Given the description of an element on the screen output the (x, y) to click on. 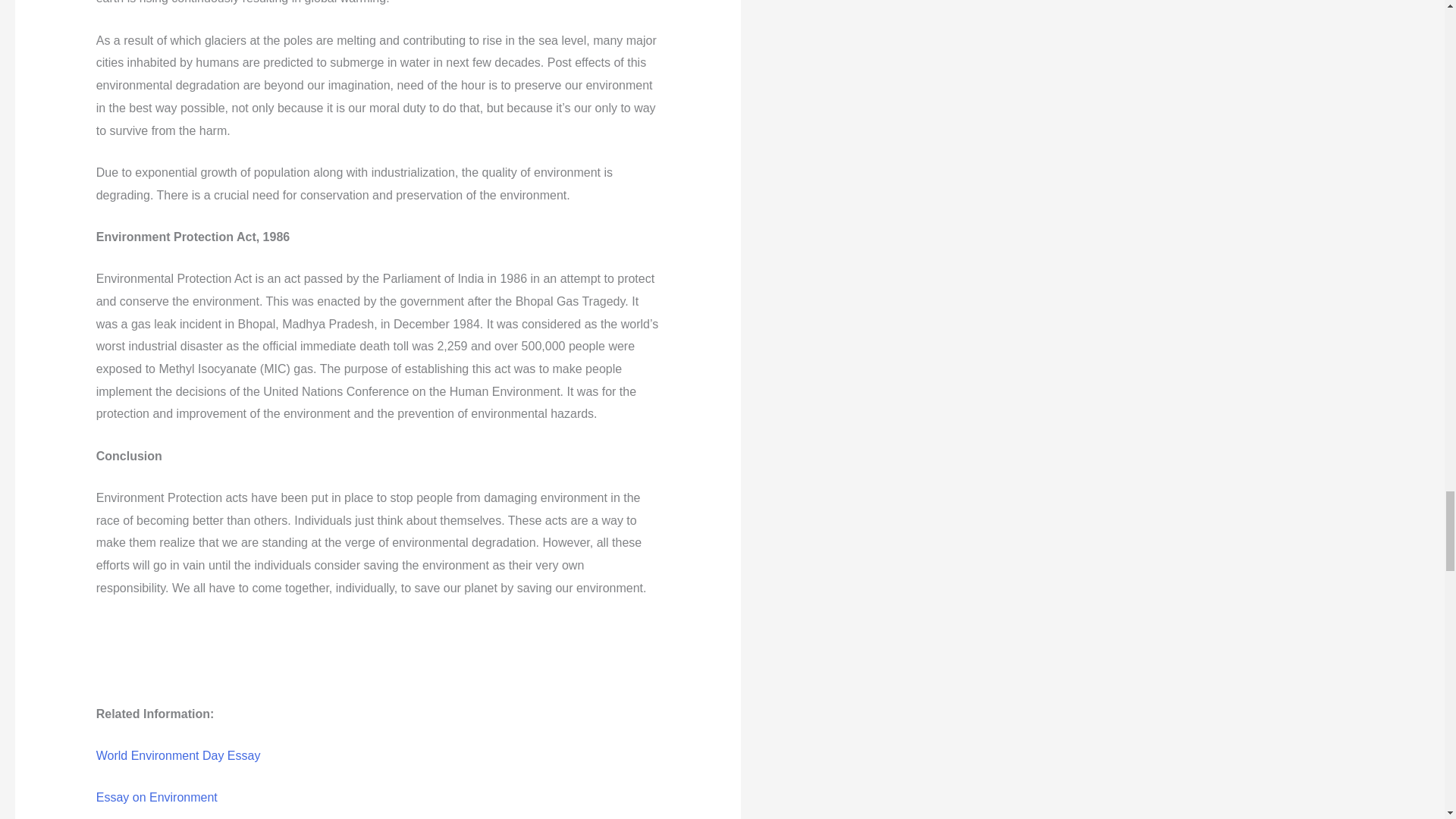
World Environment Day Essay (178, 755)
Essay on Environment (156, 797)
